Given the description of an element on the screen output the (x, y) to click on. 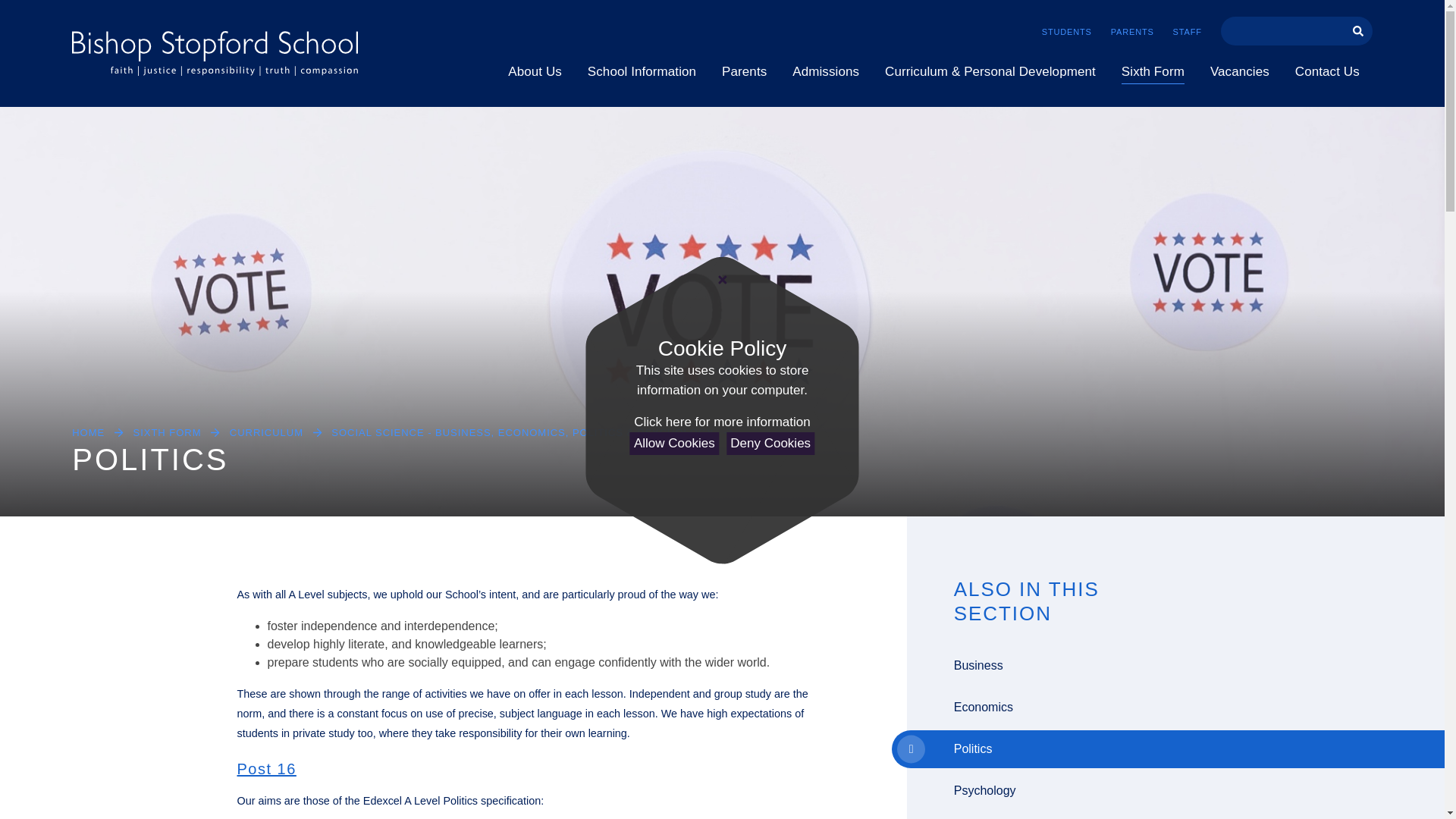
Deny Cookies (769, 443)
STAFF (1197, 31)
Search (1282, 30)
Allow Cookies (674, 443)
See cookie policy (721, 422)
PARENTS (1141, 31)
STUDENTS (1076, 31)
Search (1358, 30)
School Information (642, 72)
About Us (535, 72)
